Given the description of an element on the screen output the (x, y) to click on. 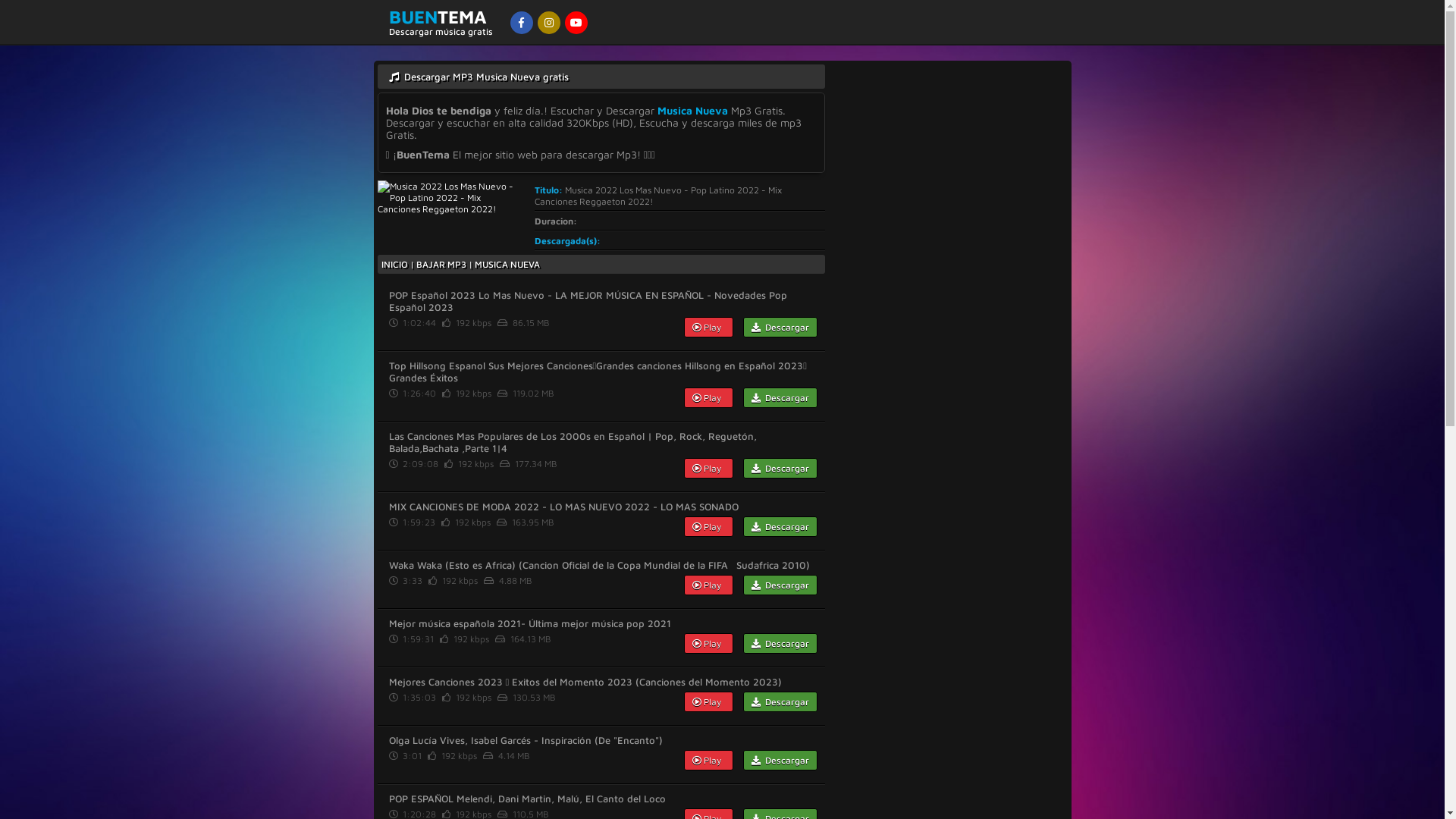
Musica Nueva Element type: text (691, 109)
Descargar Element type: text (780, 759)
Descargar Element type: text (780, 326)
Play Element type: text (708, 326)
Play Element type: text (708, 526)
Play Element type: text (708, 643)
Descargar Element type: text (780, 643)
Descargar Element type: text (780, 468)
Play Element type: text (708, 397)
Play Element type: text (708, 584)
Play Element type: text (708, 468)
Descargar Element type: text (780, 701)
MUSICA NUEVA Element type: text (506, 263)
INICIO Element type: text (393, 263)
Descargar Element type: text (780, 526)
BAJAR MP3 Element type: text (440, 263)
Descargar Element type: text (780, 397)
Descargar Element type: text (780, 584)
Play Element type: text (708, 759)
Play Element type: text (708, 701)
